Given the description of an element on the screen output the (x, y) to click on. 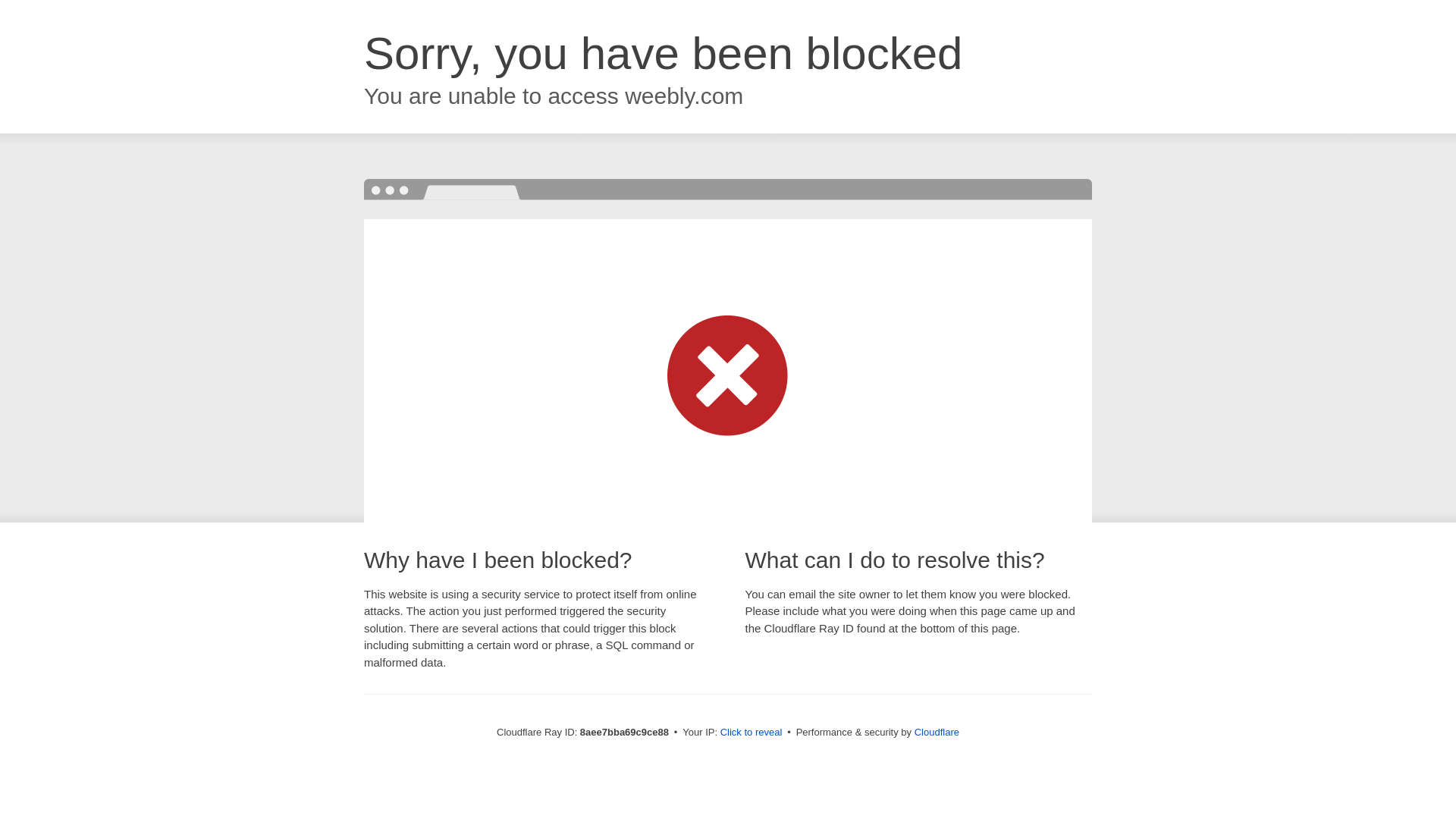
Cloudflare (936, 731)
Click to reveal (751, 732)
